Given the description of an element on the screen output the (x, y) to click on. 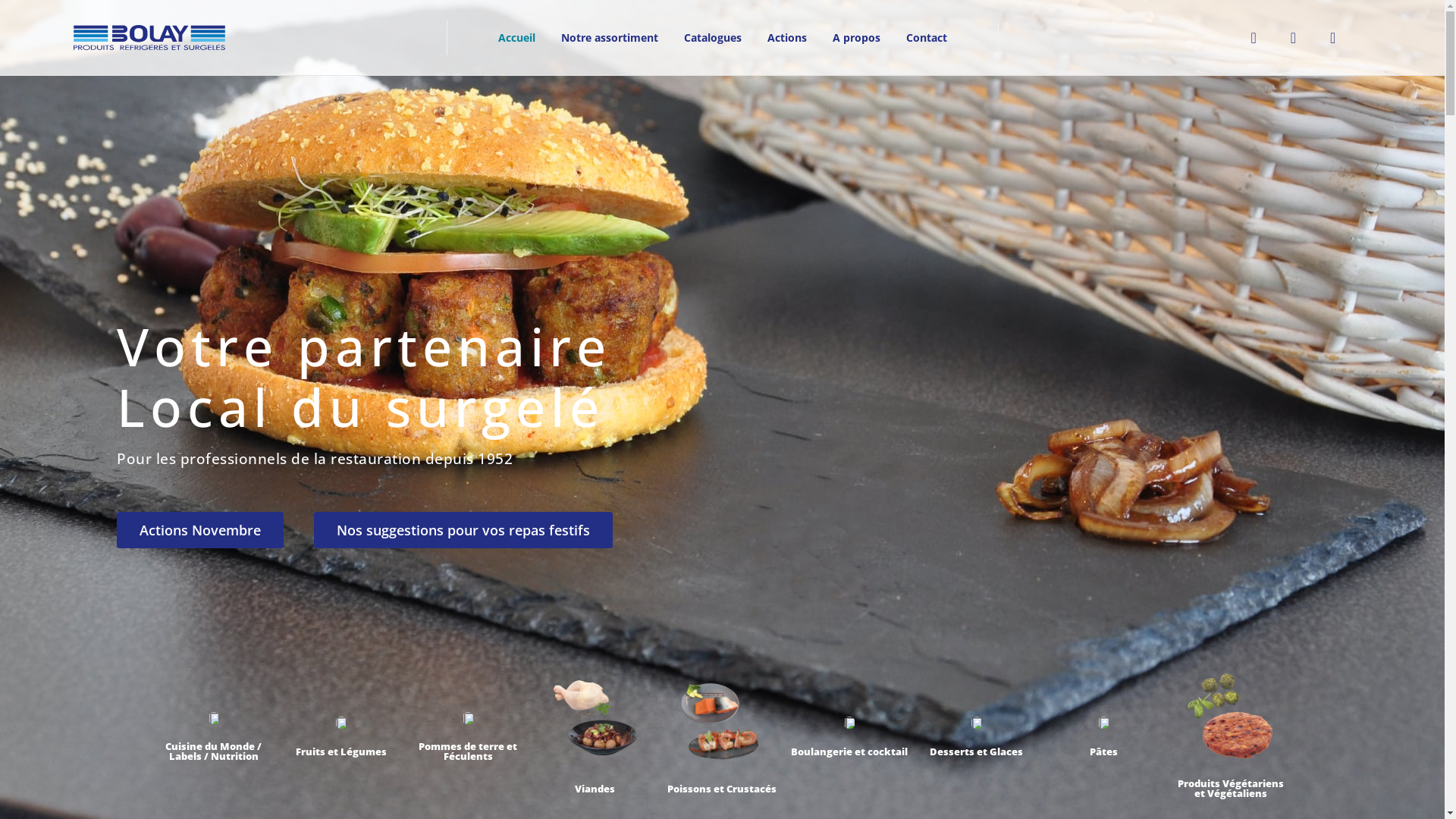
Accueil Element type: text (516, 36)
Cuisine du Monde / Labels / Nutrition Element type: text (213, 750)
Notre assortiment Element type: text (608, 36)
A propos Element type: text (855, 36)
Boulangerie et cocktail Element type: text (848, 751)
Actions Element type: text (786, 36)
Actions Novembre Element type: text (199, 529)
Nos suggestions pour vos repas festifs Element type: text (462, 529)
Catalogues Element type: text (711, 36)
Contact Element type: text (926, 36)
Viandes Element type: text (594, 788)
Desserts et Glaces Element type: text (975, 751)
